Given the description of an element on the screen output the (x, y) to click on. 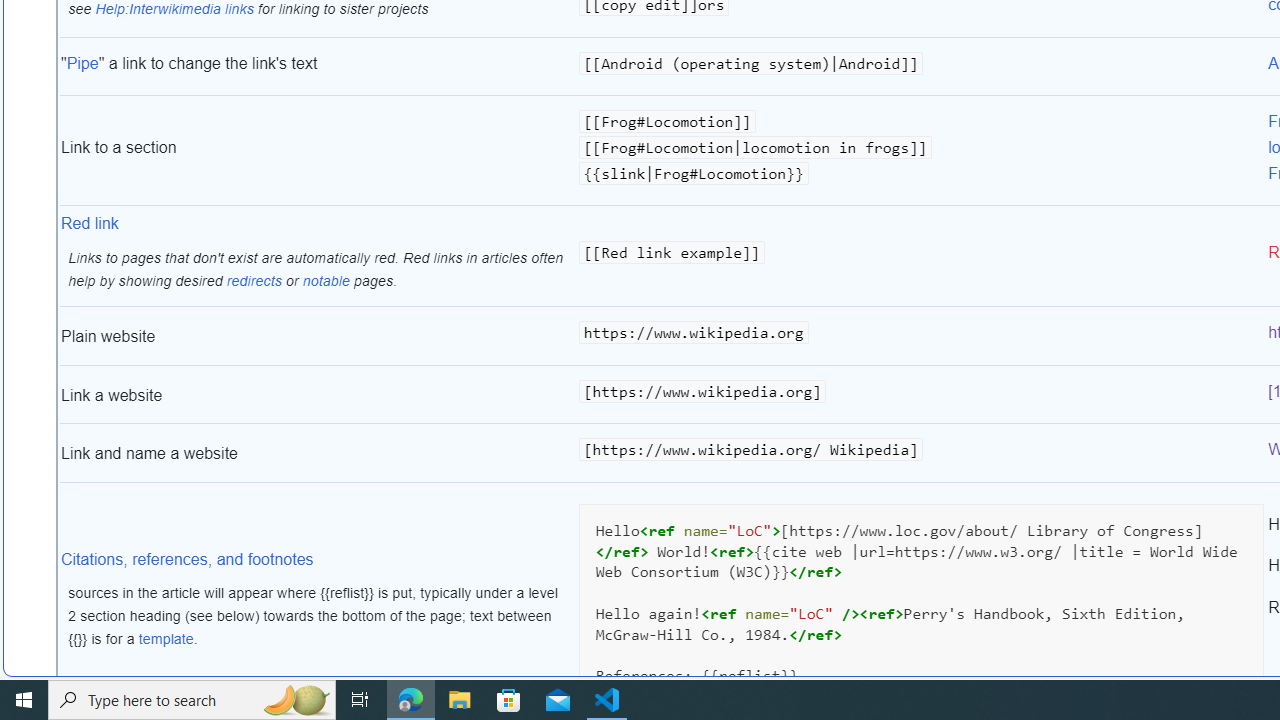
[[Red link example]] (921, 257)
Plain website (318, 336)
redirects (253, 280)
template (166, 639)
